Given the description of an element on the screen output the (x, y) to click on. 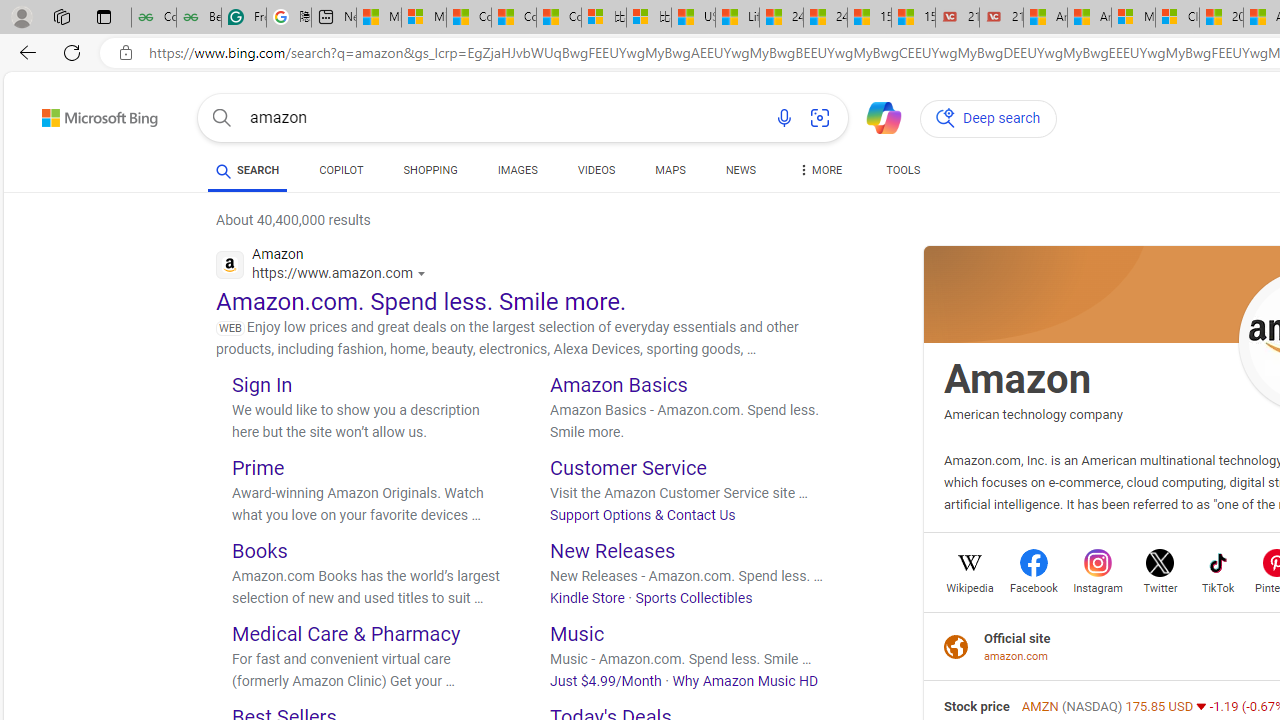
NEWS (740, 173)
Class: sp-ofsite (955, 646)
Cloud Computing Services | Microsoft Azure (1177, 17)
USA TODAY - MSN (693, 17)
Music (577, 632)
New Releases (612, 550)
SHOPPING (430, 173)
NEWS (740, 170)
TOOLS (903, 170)
Why Amazon Music HD (745, 680)
Best SSL Certificates Provider in India - GeeksforGeeks (198, 17)
Just $4.99/Month (605, 680)
Instagram (1097, 586)
